Given the description of an element on the screen output the (x, y) to click on. 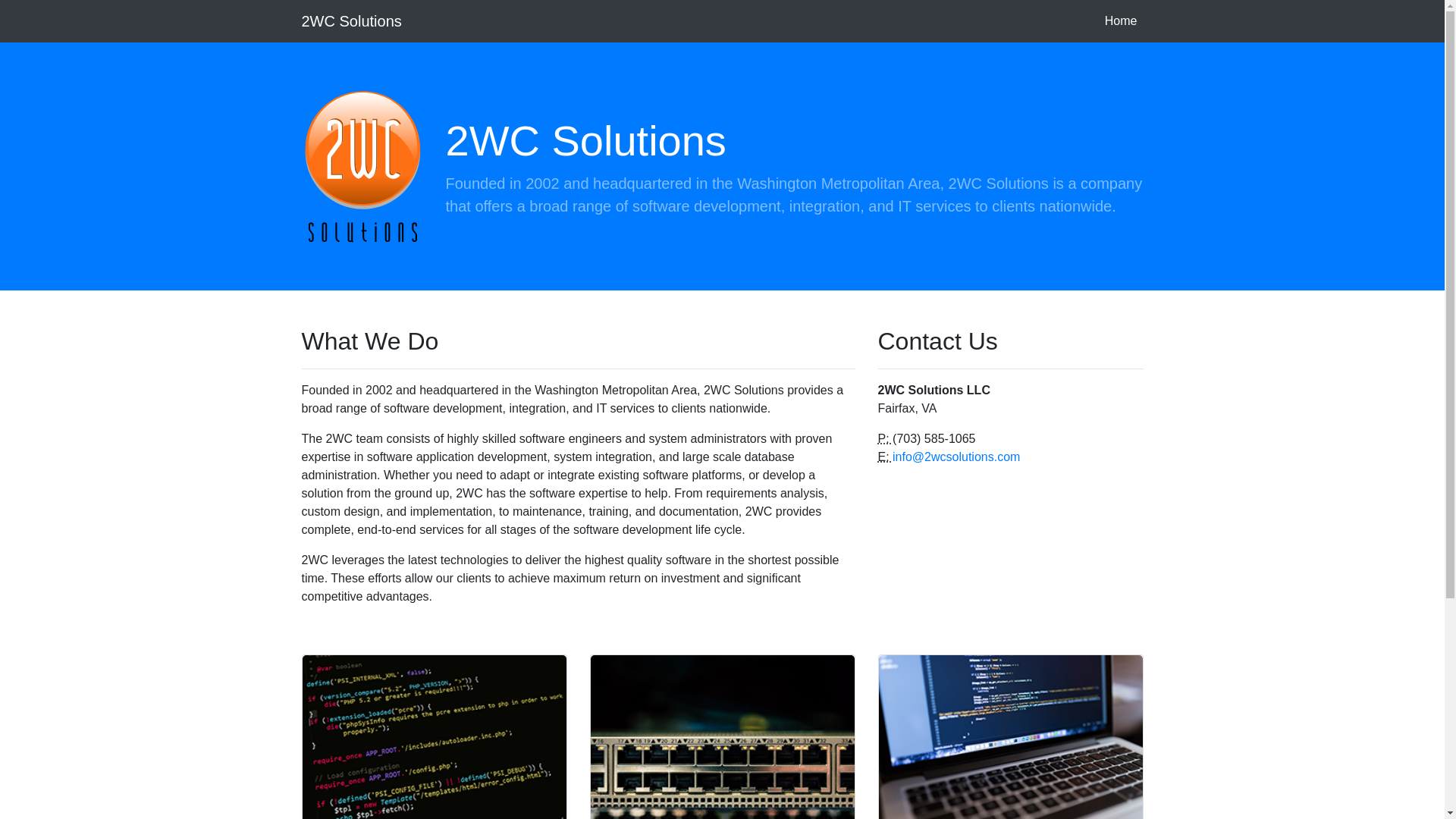
2WC Solutions Element type: text (351, 21)
Home
(current) Element type: text (1120, 21)
info@2wcsolutions.com Element type: text (955, 456)
